Given the description of an element on the screen output the (x, y) to click on. 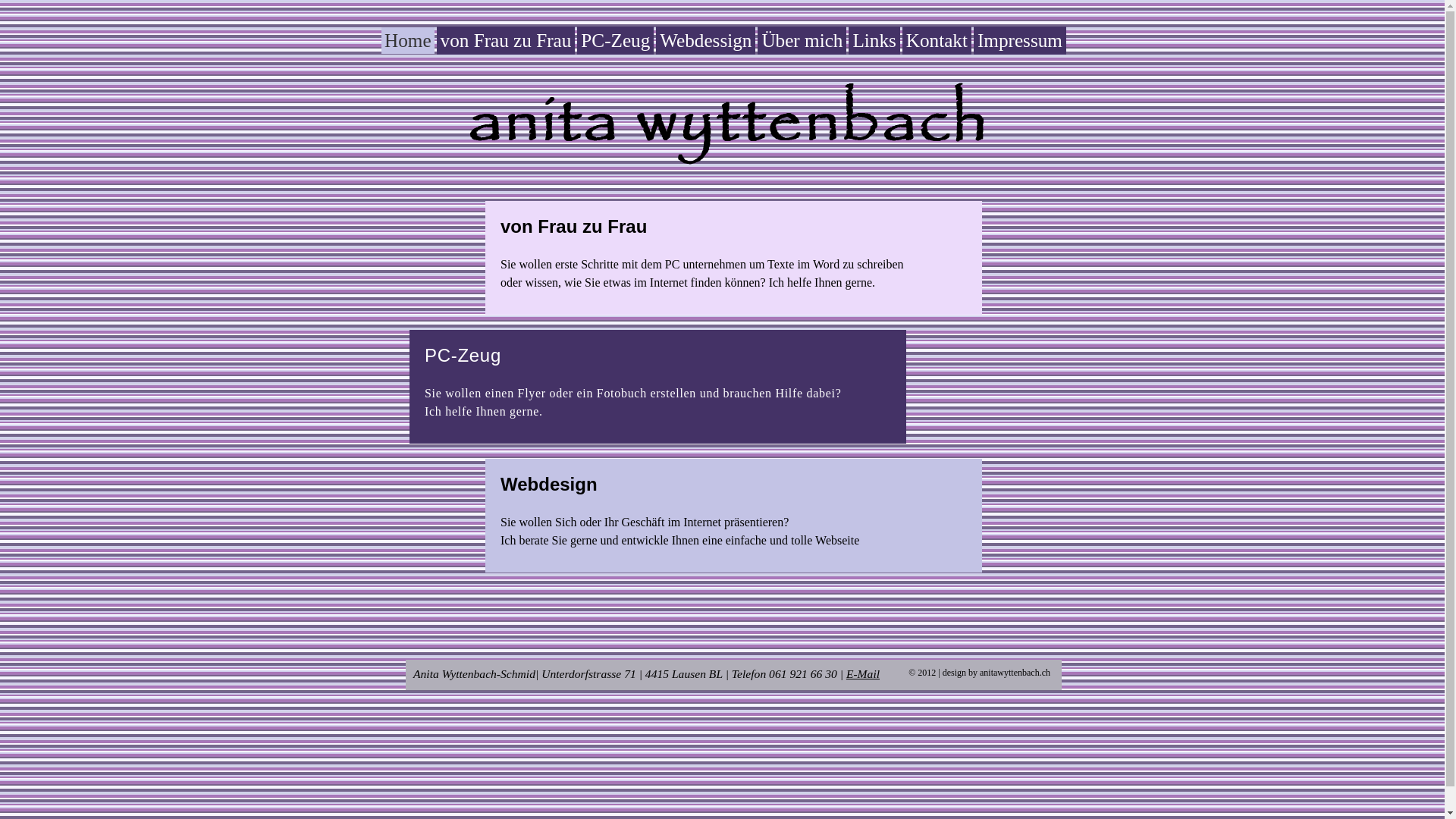
Links Element type: text (873, 40)
Home Element type: text (407, 40)
PC-Zeug Element type: text (615, 40)
Webdessign Element type: text (705, 40)
Impressum Element type: text (1019, 40)
E-Mail Element type: text (862, 673)
Kontakt Element type: text (936, 40)
von Frau zu Frau Element type: text (505, 40)
